Given the description of an element on the screen output the (x, y) to click on. 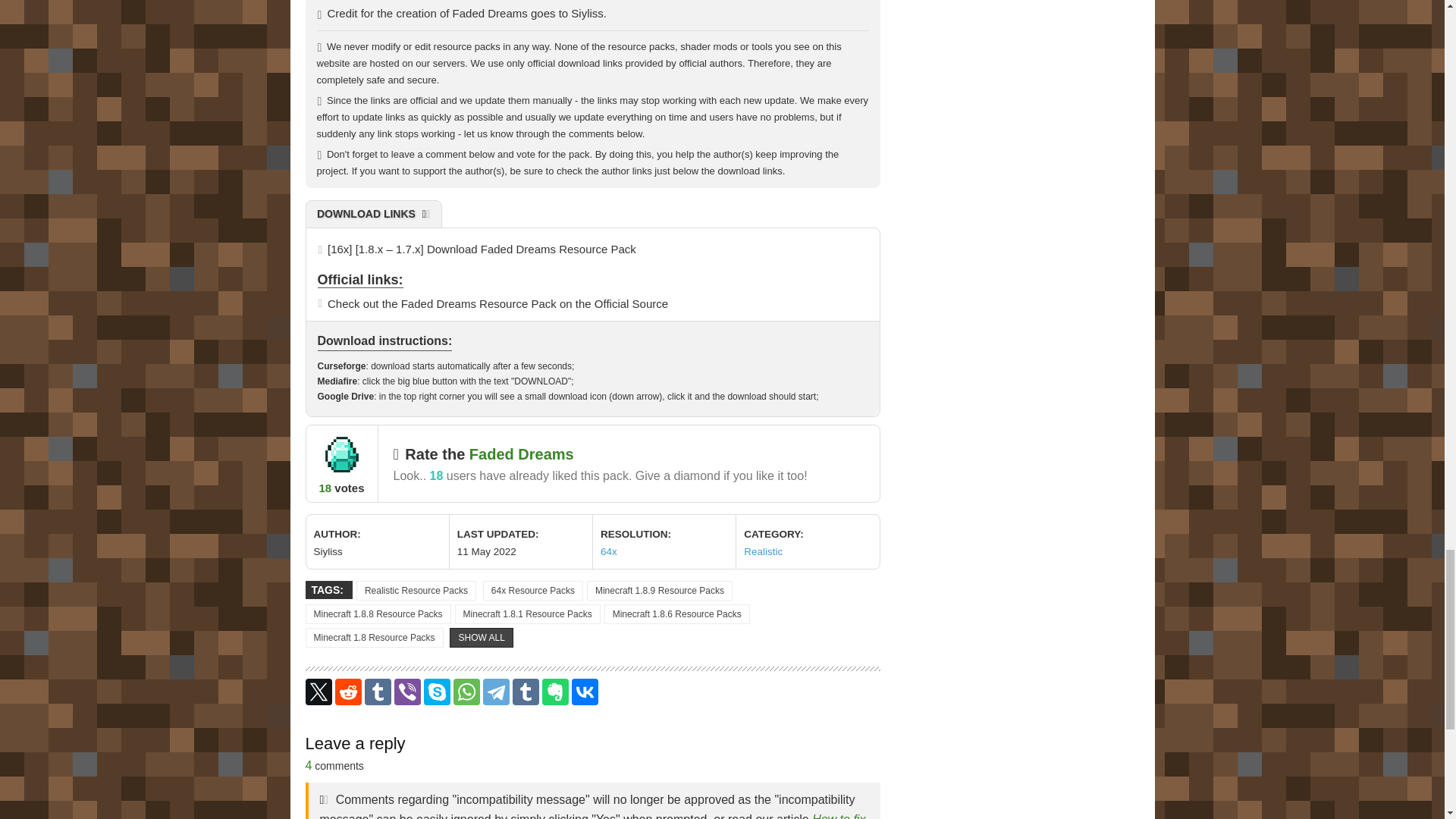
WhatsApp (466, 691)
Minecraft 1.8 Resource Packs (373, 637)
Viber (407, 691)
Skype (436, 691)
Minecraft 1.8.8 Resource Packs (376, 614)
Tumblr (525, 691)
Minecraft 1.8.6 Resource Packs (676, 614)
reddit (347, 691)
64x (608, 551)
Realistic (763, 551)
